Given the description of an element on the screen output the (x, y) to click on. 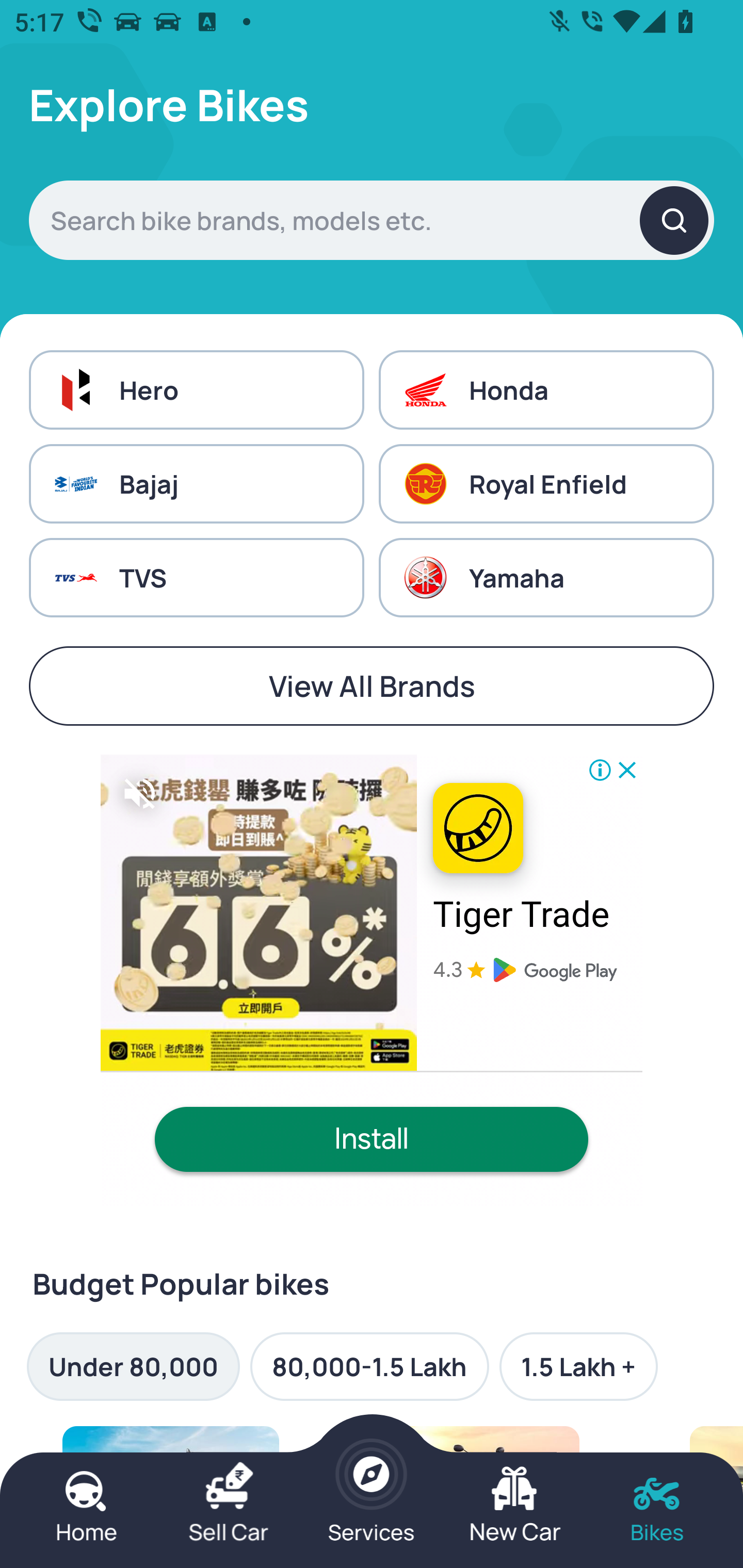
Search bike brands, models etc. (371, 220)
Hero (196, 389)
Honda (546, 389)
Bajaj (196, 483)
Royal Enfield (546, 483)
TVS (196, 577)
Yamaha (546, 577)
View All Brands (371, 685)
Install (371, 1138)
80,000-1.5 Lakh (369, 1366)
1.5 Lakh + (578, 1366)
